Given the description of an element on the screen output the (x, y) to click on. 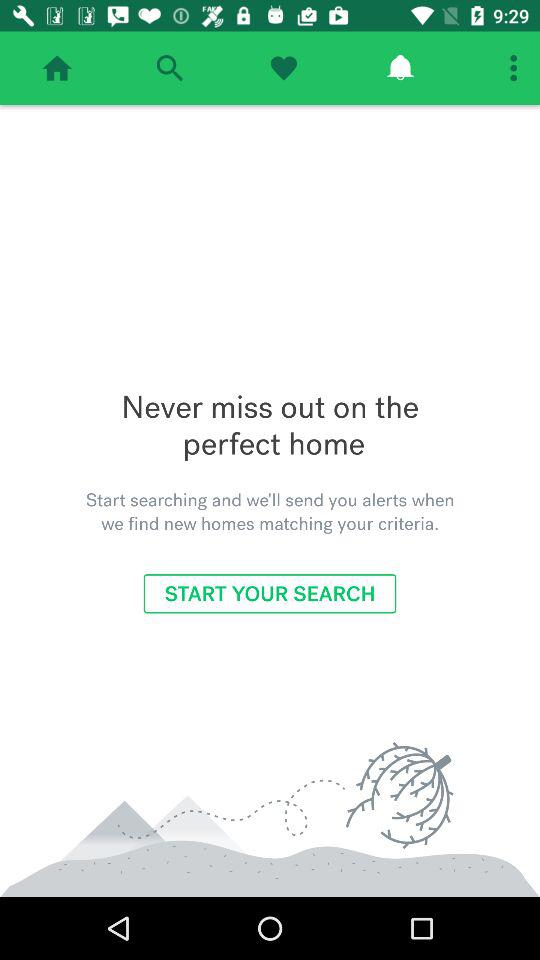
check notifications (400, 68)
